Given the description of an element on the screen output the (x, y) to click on. 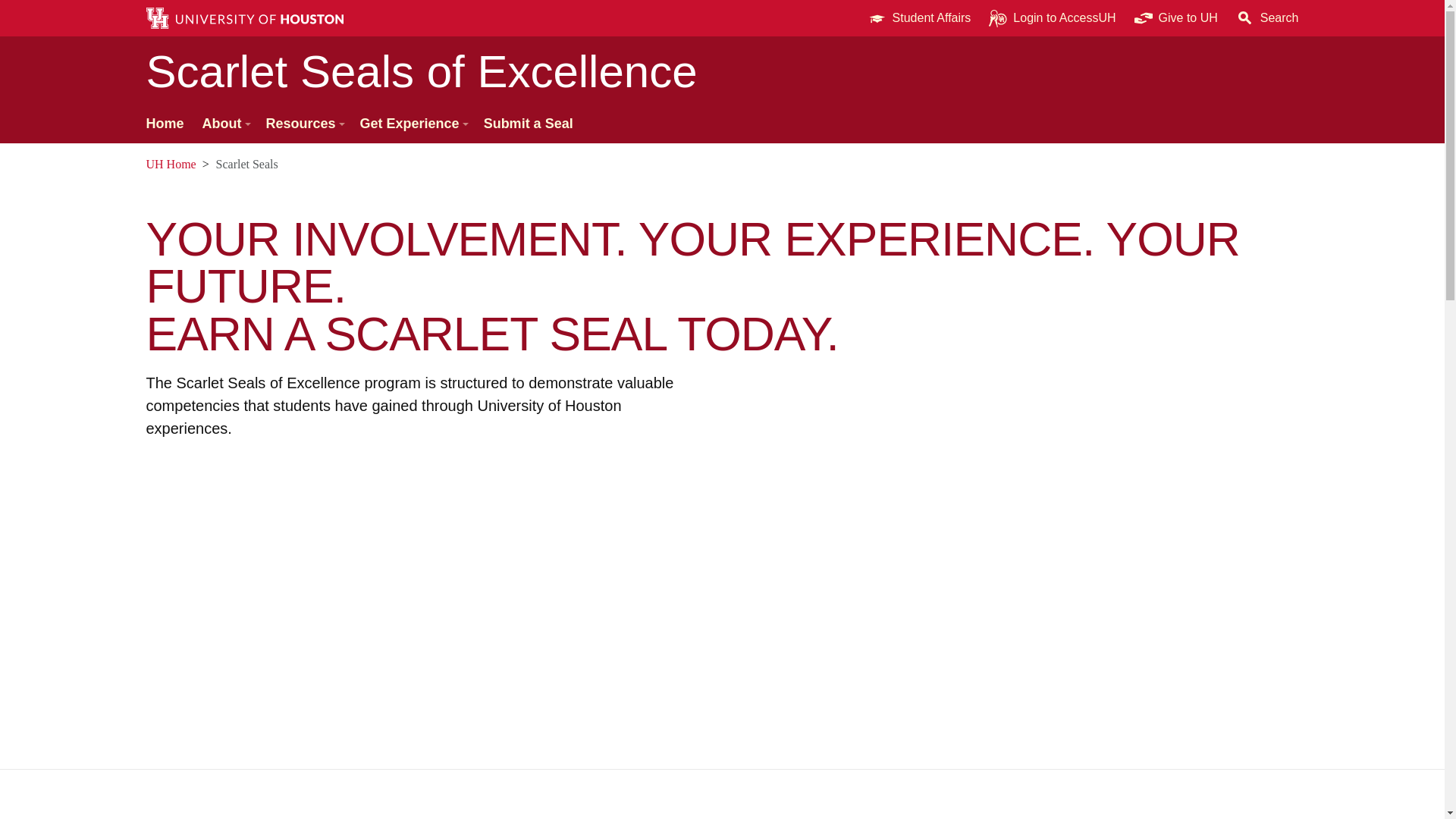
Scarlet Seals of Excellence (721, 71)
Resources (303, 123)
University of Houston (154, 164)
Search (1267, 18)
Home (164, 123)
Student Affairs (919, 18)
Submit a Seal (528, 123)
Give to UH (1176, 18)
University of Houston (1208, 17)
About (225, 123)
